Given the description of an element on the screen output the (x, y) to click on. 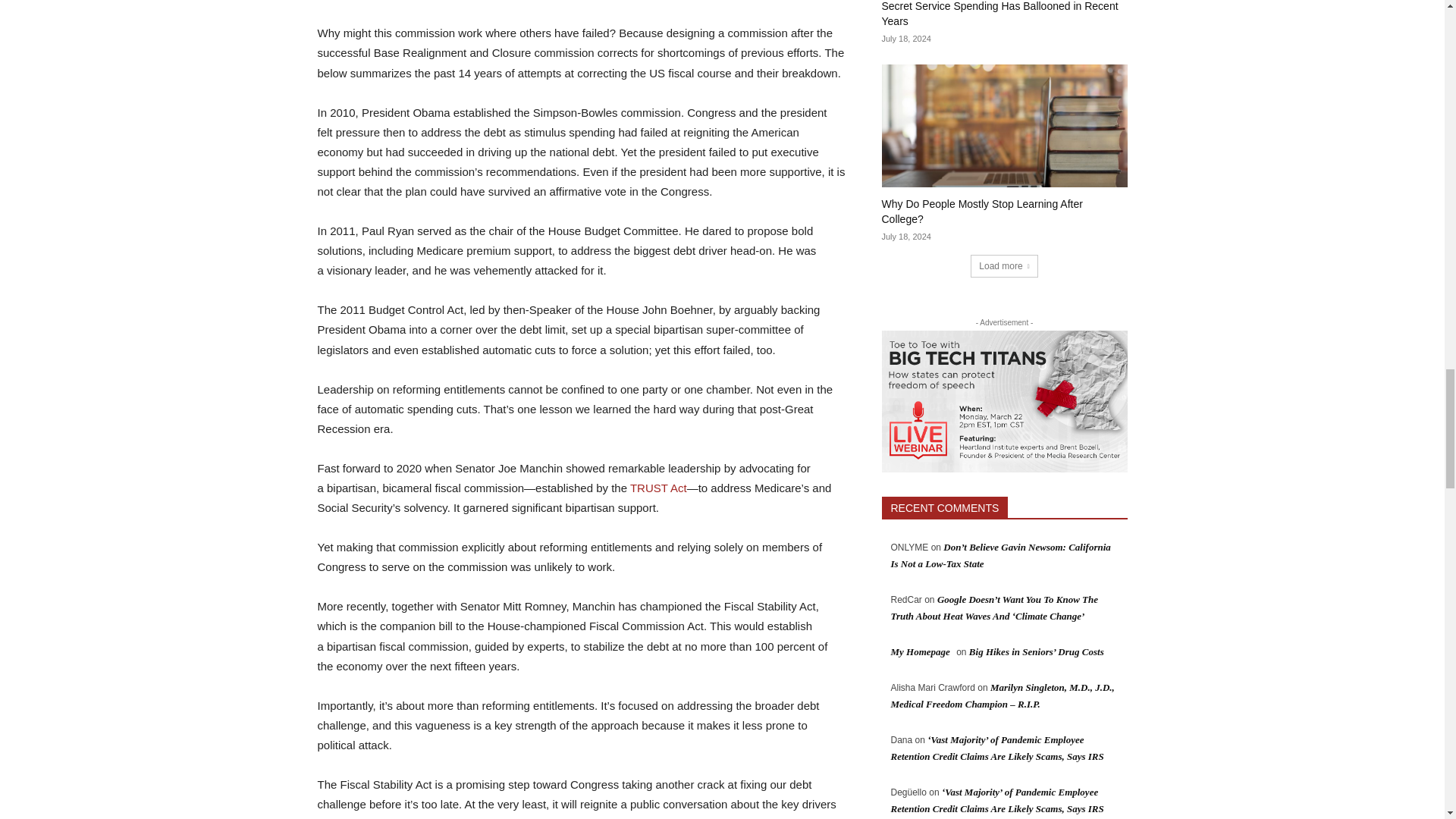
TRUST Act (658, 487)
